Given the description of an element on the screen output the (x, y) to click on. 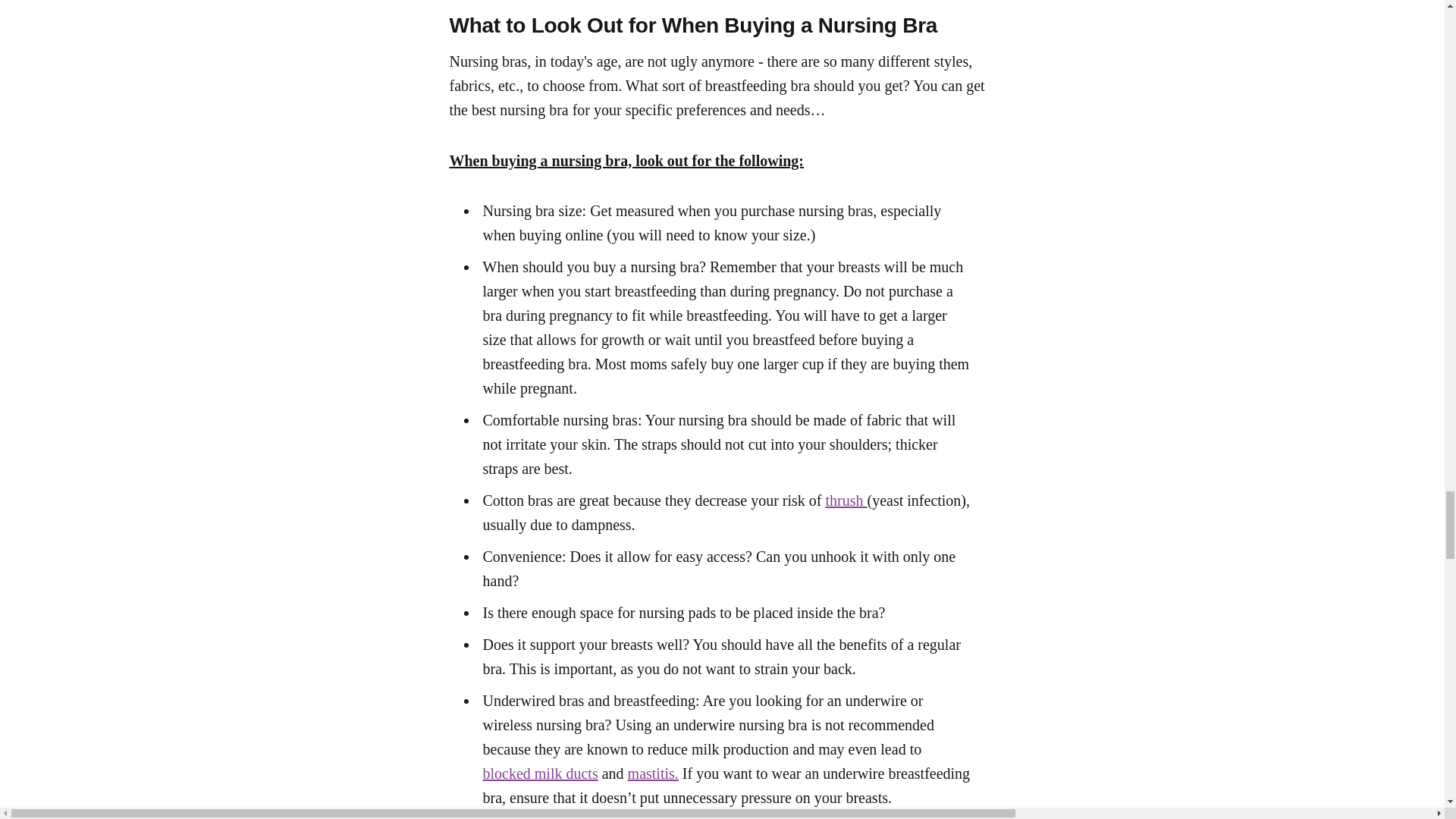
thrush (846, 500)
blocked milk ducts (538, 773)
mastitis. (652, 773)
